Given the description of an element on the screen output the (x, y) to click on. 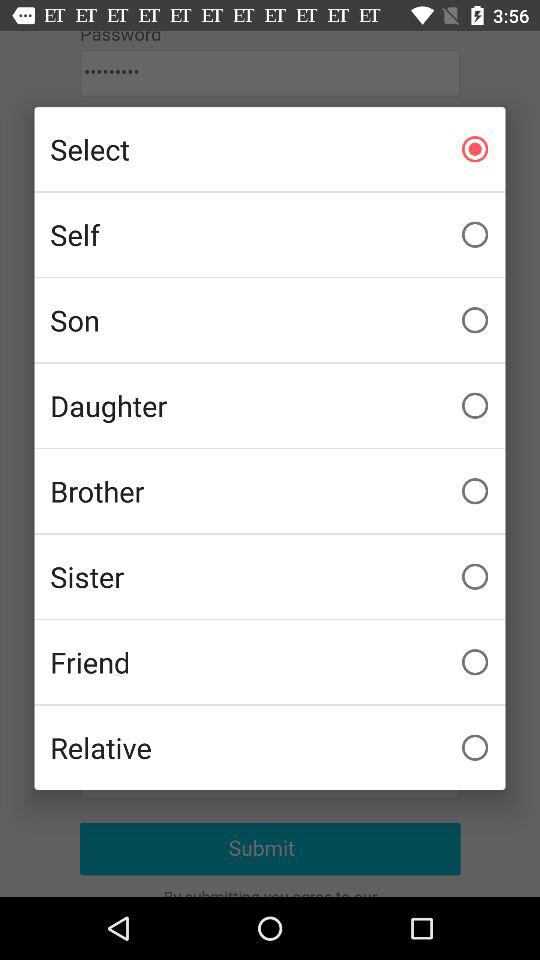
scroll to the friend item (269, 662)
